Given the description of an element on the screen output the (x, y) to click on. 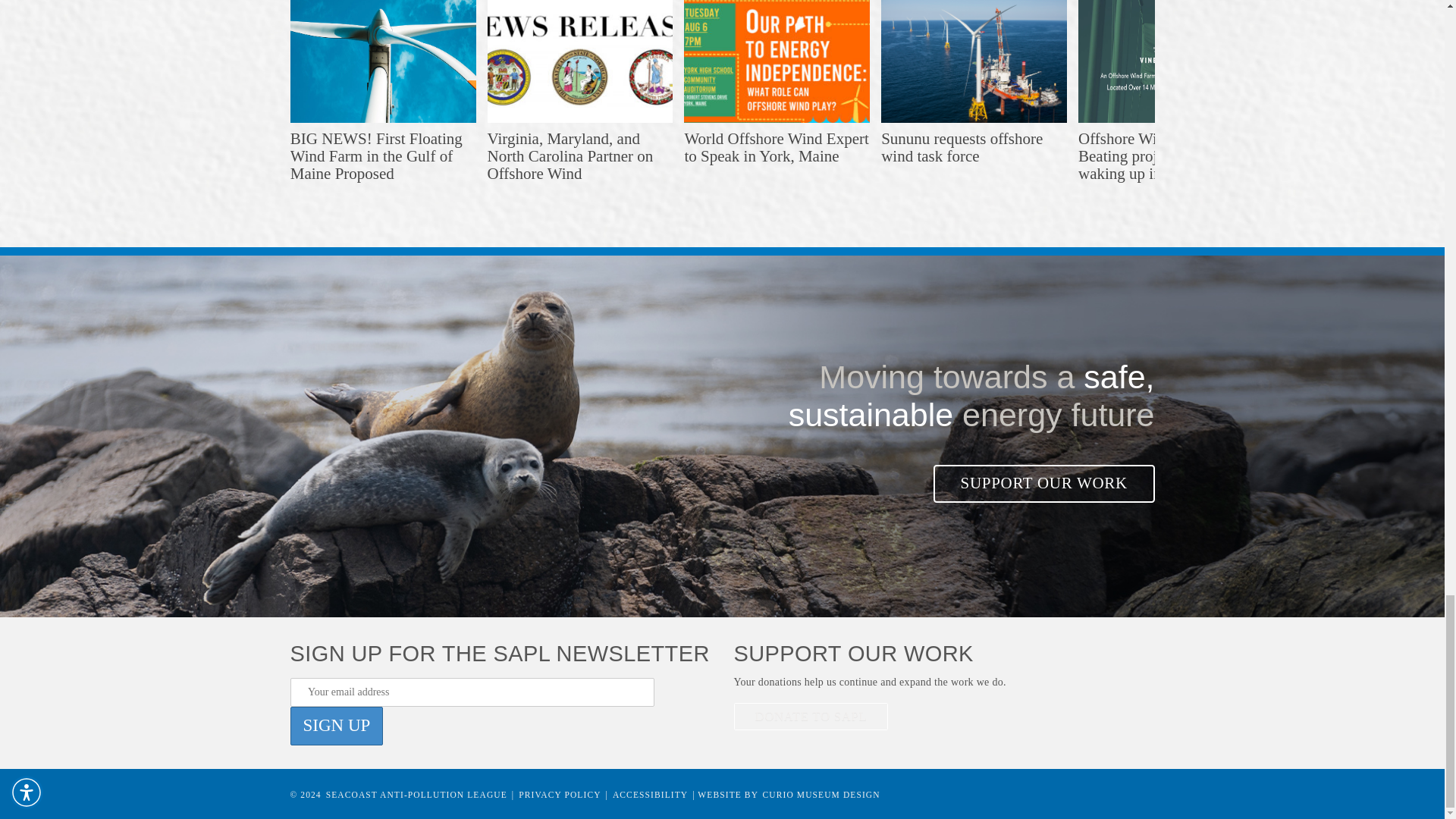
 SIGN UP  (335, 725)
